Given the description of an element on the screen output the (x, y) to click on. 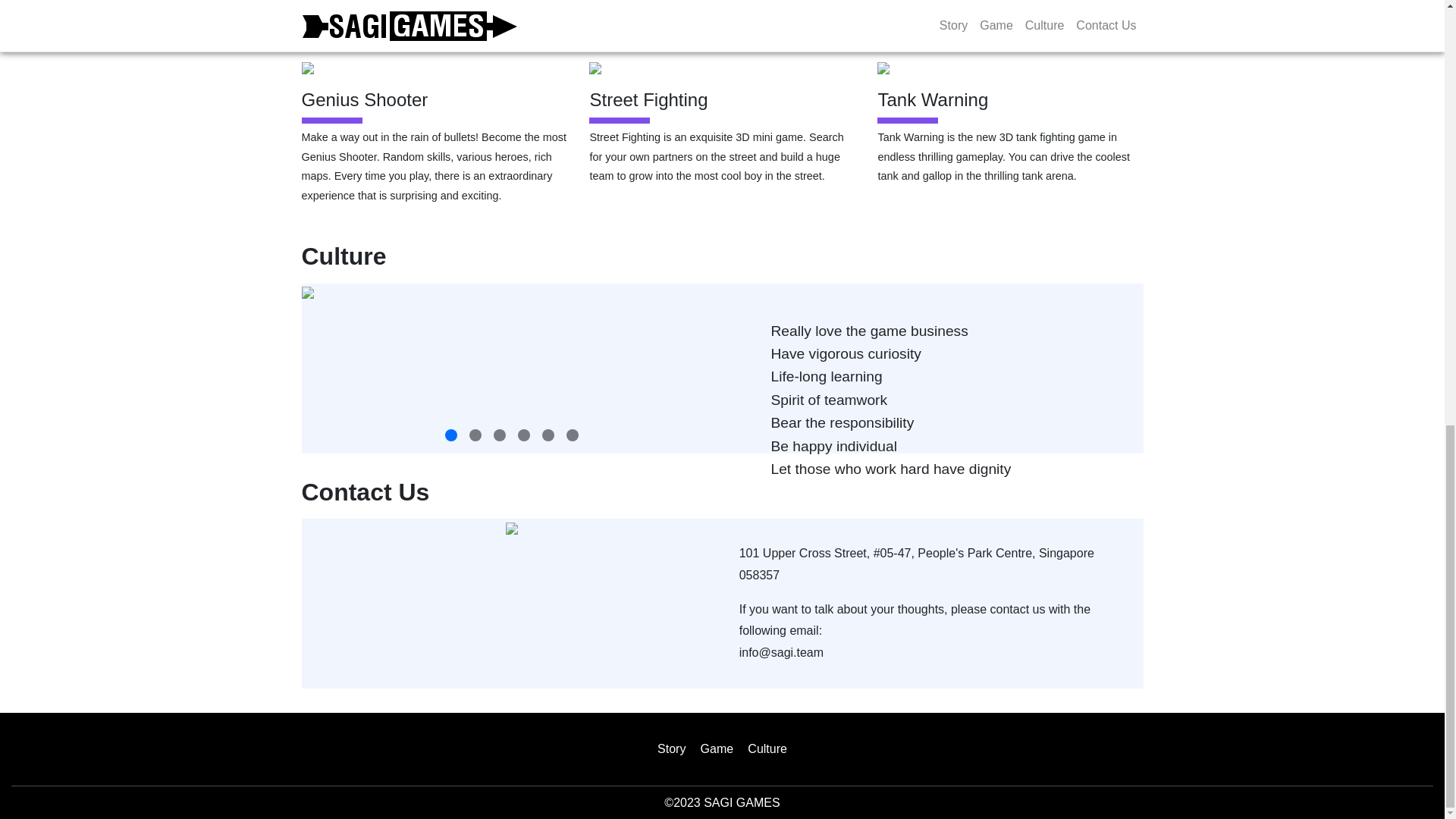
Story (671, 748)
Game (716, 748)
Culture (767, 748)
